Given the description of an element on the screen output the (x, y) to click on. 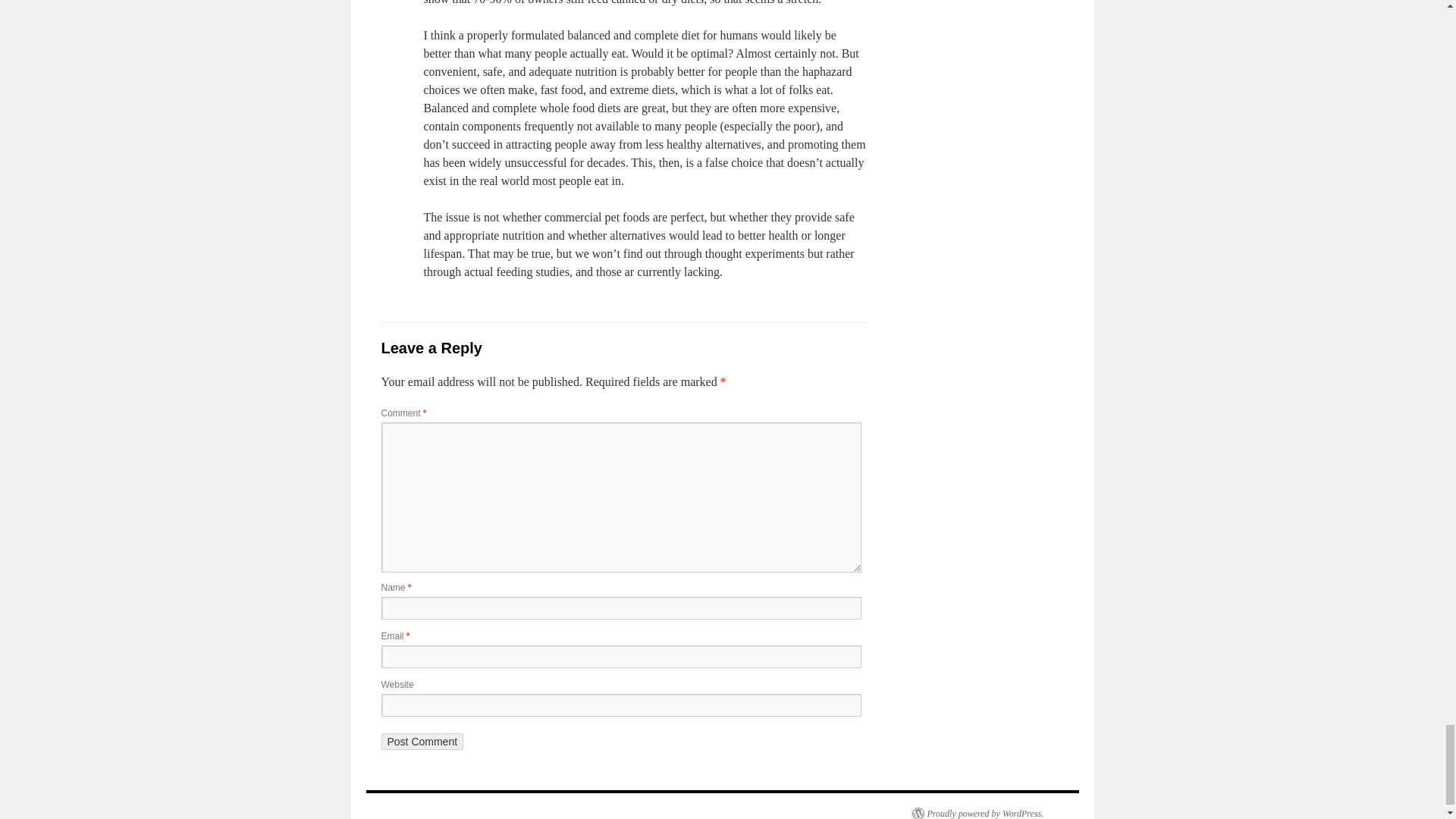
Post Comment (421, 741)
